Given the description of an element on the screen output the (x, y) to click on. 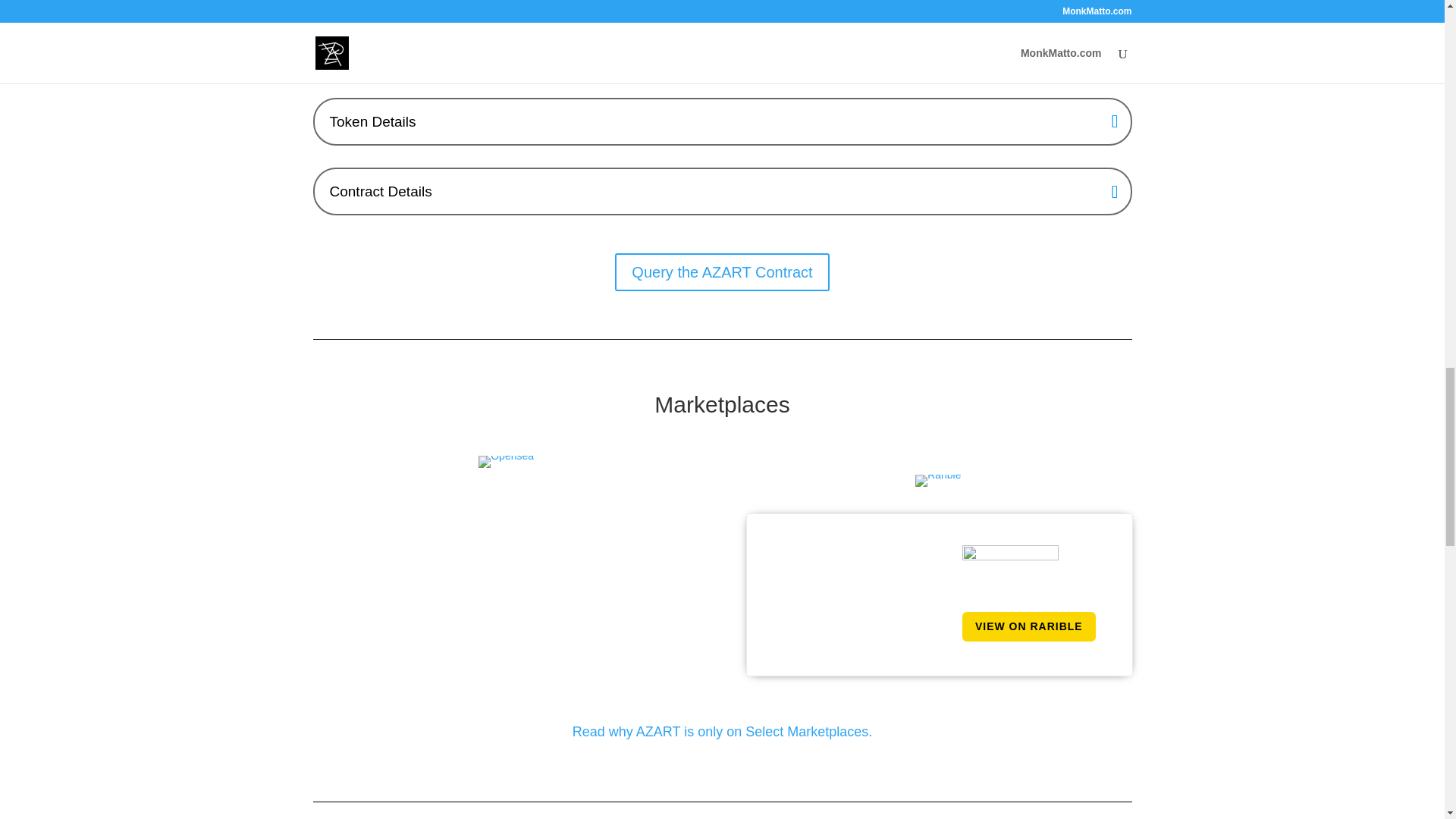
MarketplaceLogos-Opensea (506, 461)
Read why AZART is only on Select Marketplaces. (722, 731)
VIEW ON RARIBLE (1029, 625)
MarketplaceLogos-Rarible (937, 480)
AZART-Rarible-Verified (1010, 568)
Query the AZART Contract (721, 272)
